Given the description of an element on the screen output the (x, y) to click on. 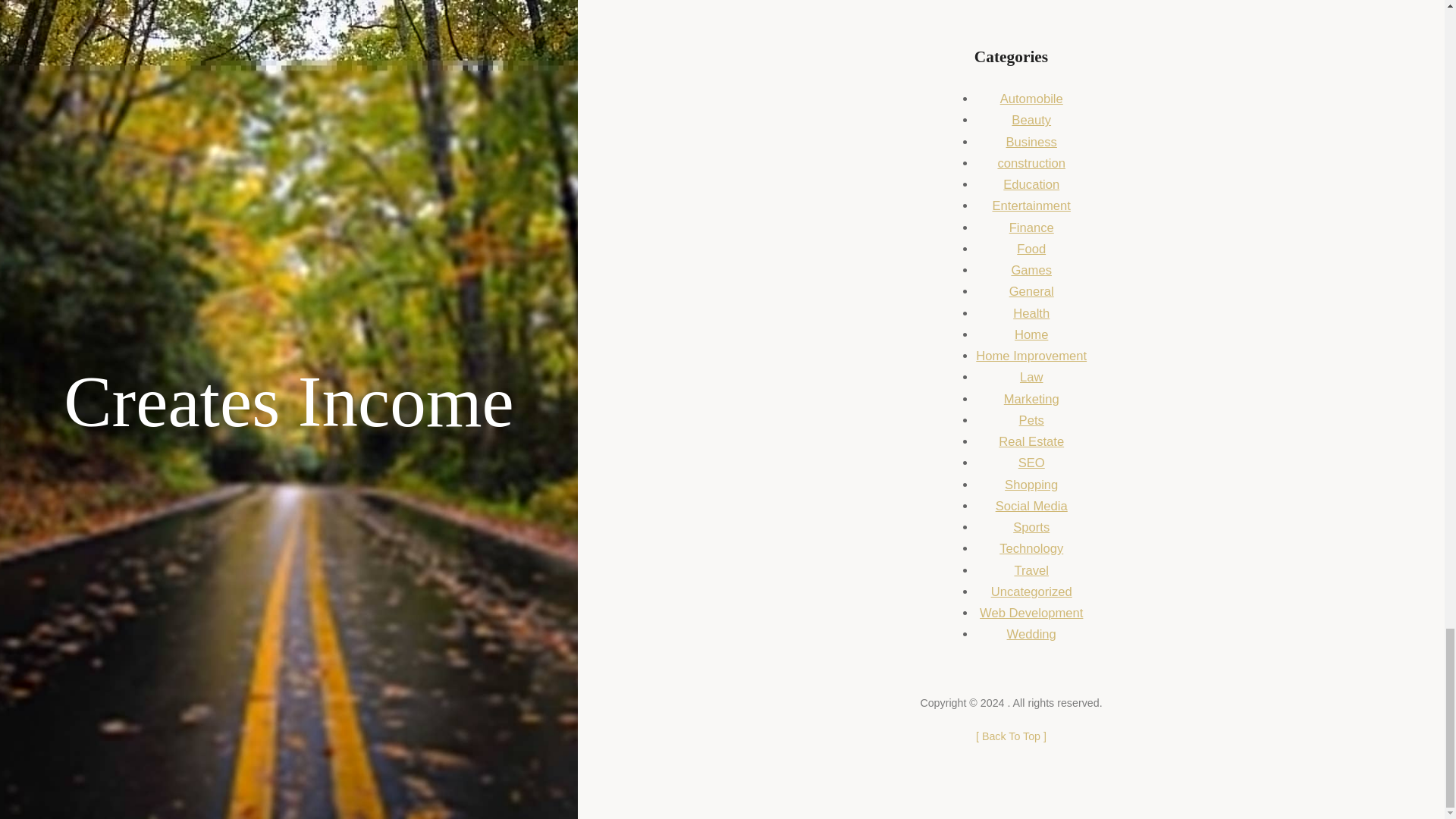
Back To Top (1010, 736)
